Given the description of an element on the screen output the (x, y) to click on. 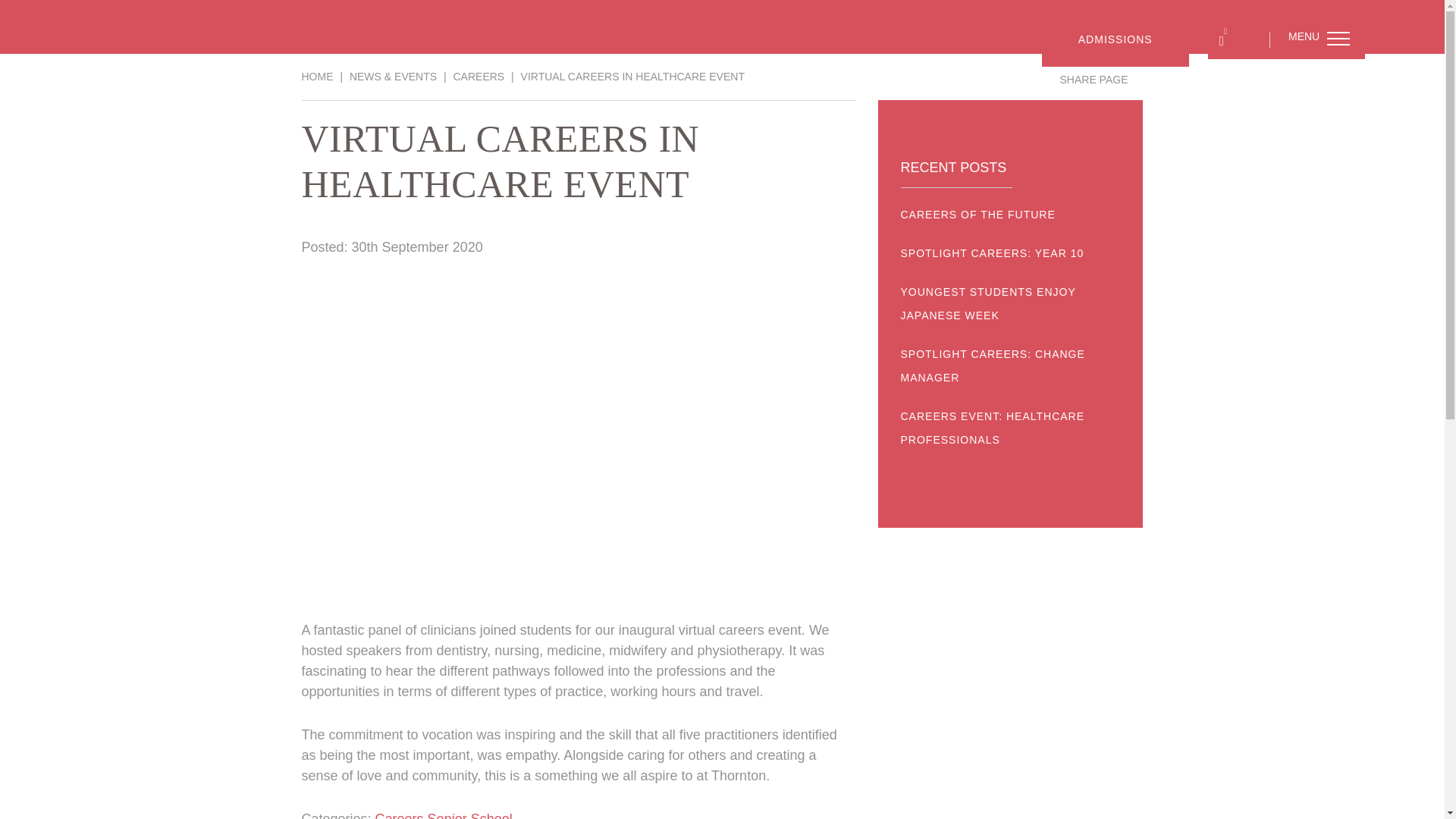
Go to Thornton College. (317, 76)
ADMISSIONS (1115, 39)
Go to the Careers category archives. (477, 76)
